Given the description of an element on the screen output the (x, y) to click on. 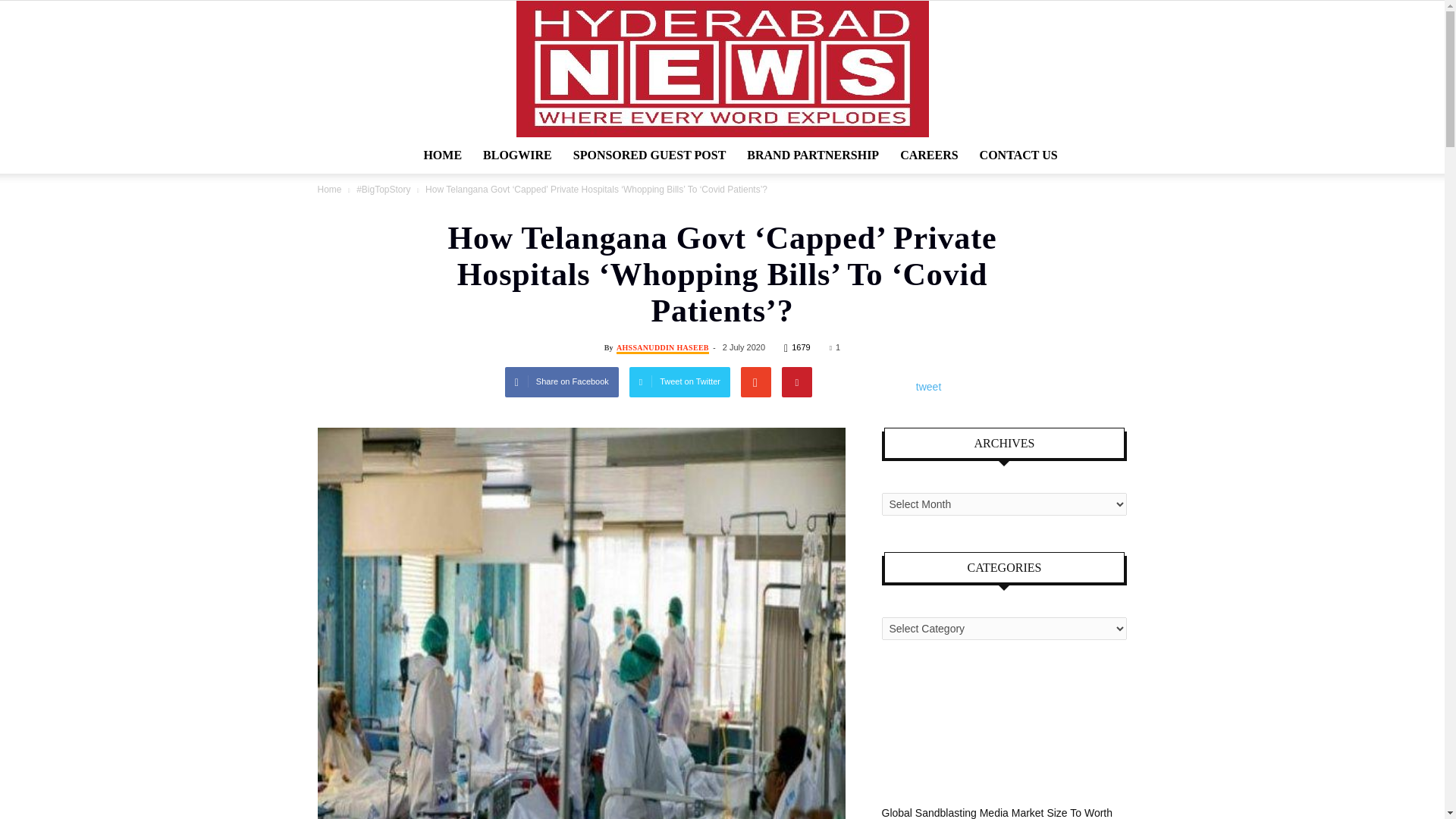
BRAND PARTNERSHIP (812, 155)
BLOGWIRE (516, 155)
CONTACT US (1018, 155)
Tweet on Twitter (679, 381)
Hyderabad News (721, 68)
HOME (441, 155)
Home (328, 189)
CAREERS (928, 155)
SPONSORED GUEST POST (649, 155)
AHSSANUDDIN HASEEB (662, 348)
1 (834, 347)
Share on Facebook (561, 381)
